Given the description of an element on the screen output the (x, y) to click on. 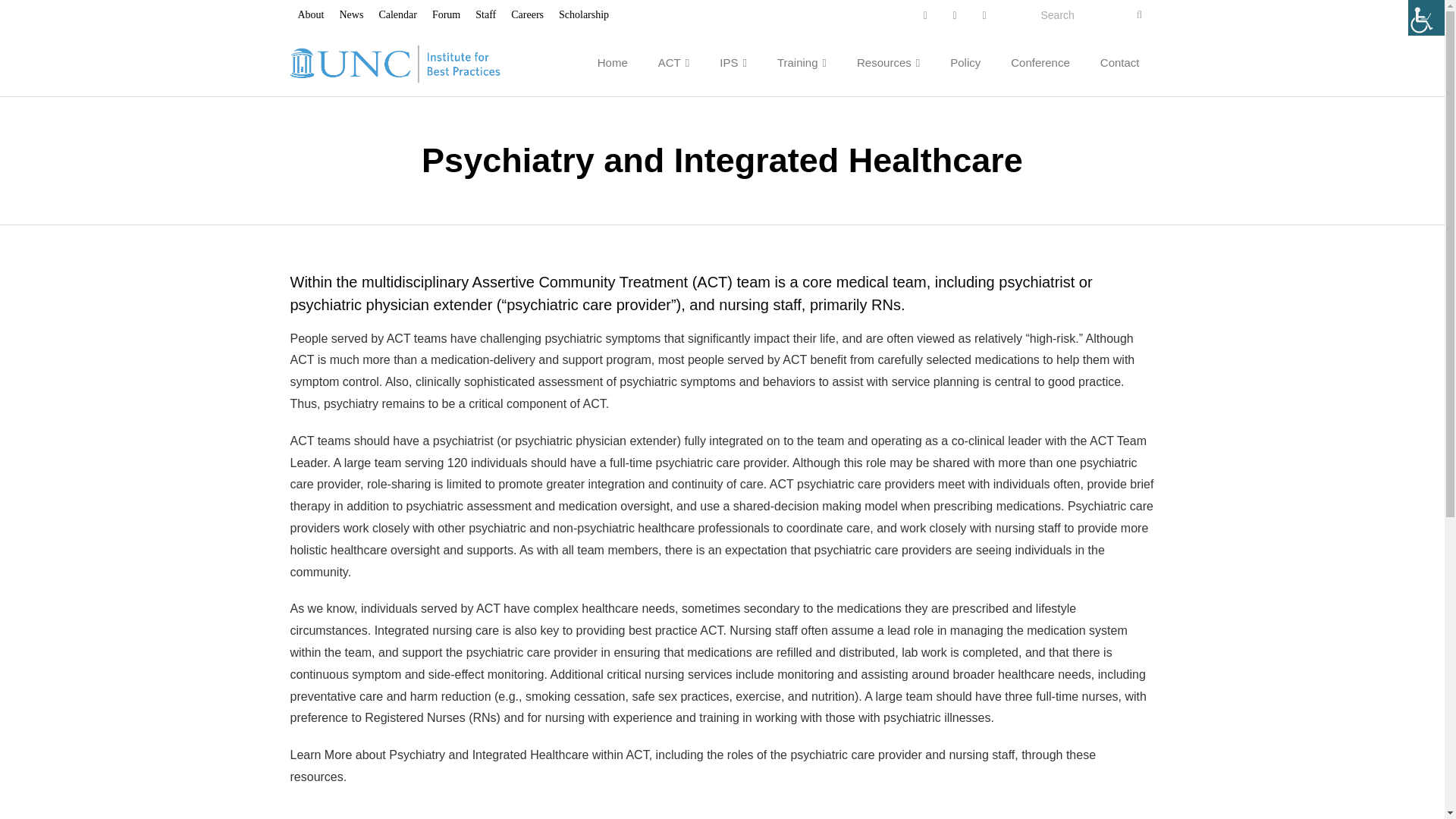
ACT (673, 62)
Scholarship (583, 14)
Home (612, 62)
Staff (485, 14)
Calendar (398, 14)
Careers (527, 14)
News (351, 14)
About (310, 14)
Forum (446, 14)
Search (40, 17)
